Given the description of an element on the screen output the (x, y) to click on. 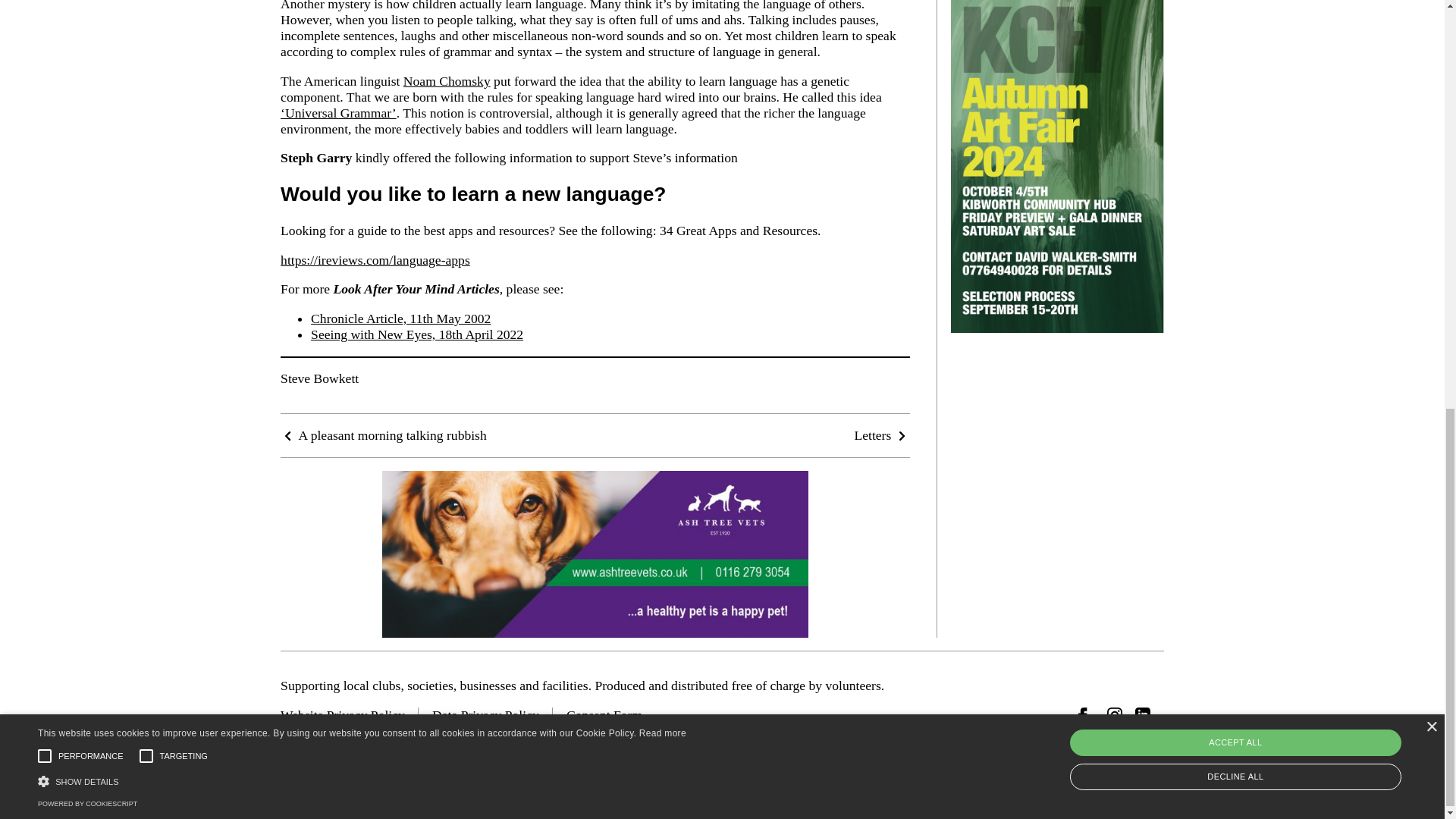
Letters (880, 435)
Follow us on Instagram (1114, 714)
A pleasant morning talking rubbish (383, 435)
Connect with us on LinkedIn (1142, 714)
Noam Chomsky (446, 80)
Chronicle Article, 11th May 2002 (400, 318)
Seeing with New Eyes, 18th April 2022 (416, 334)
Like us on Facebook (1085, 714)
